Given the description of an element on the screen output the (x, y) to click on. 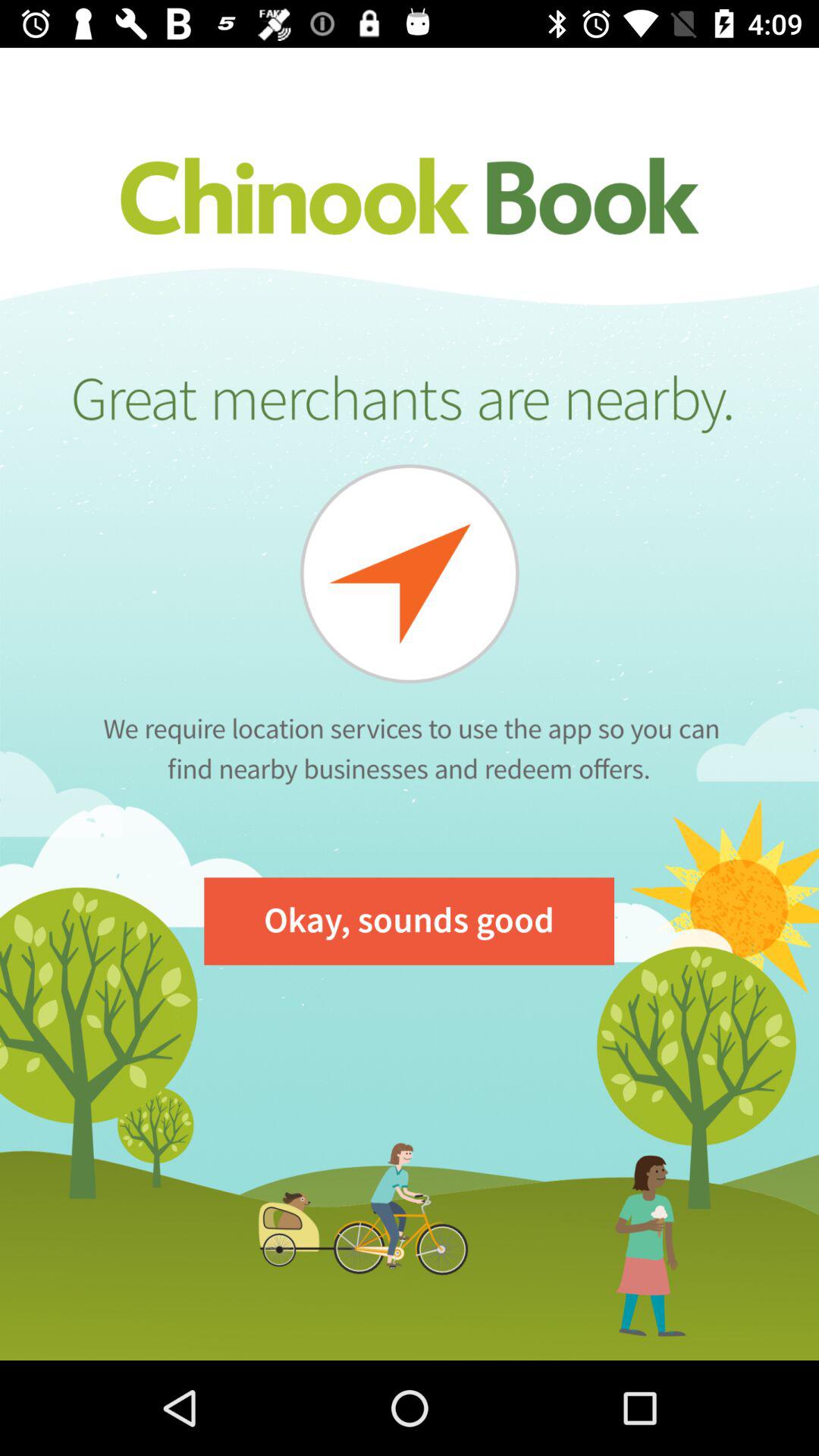
jump until okay, sounds good (409, 921)
